Given the description of an element on the screen output the (x, y) to click on. 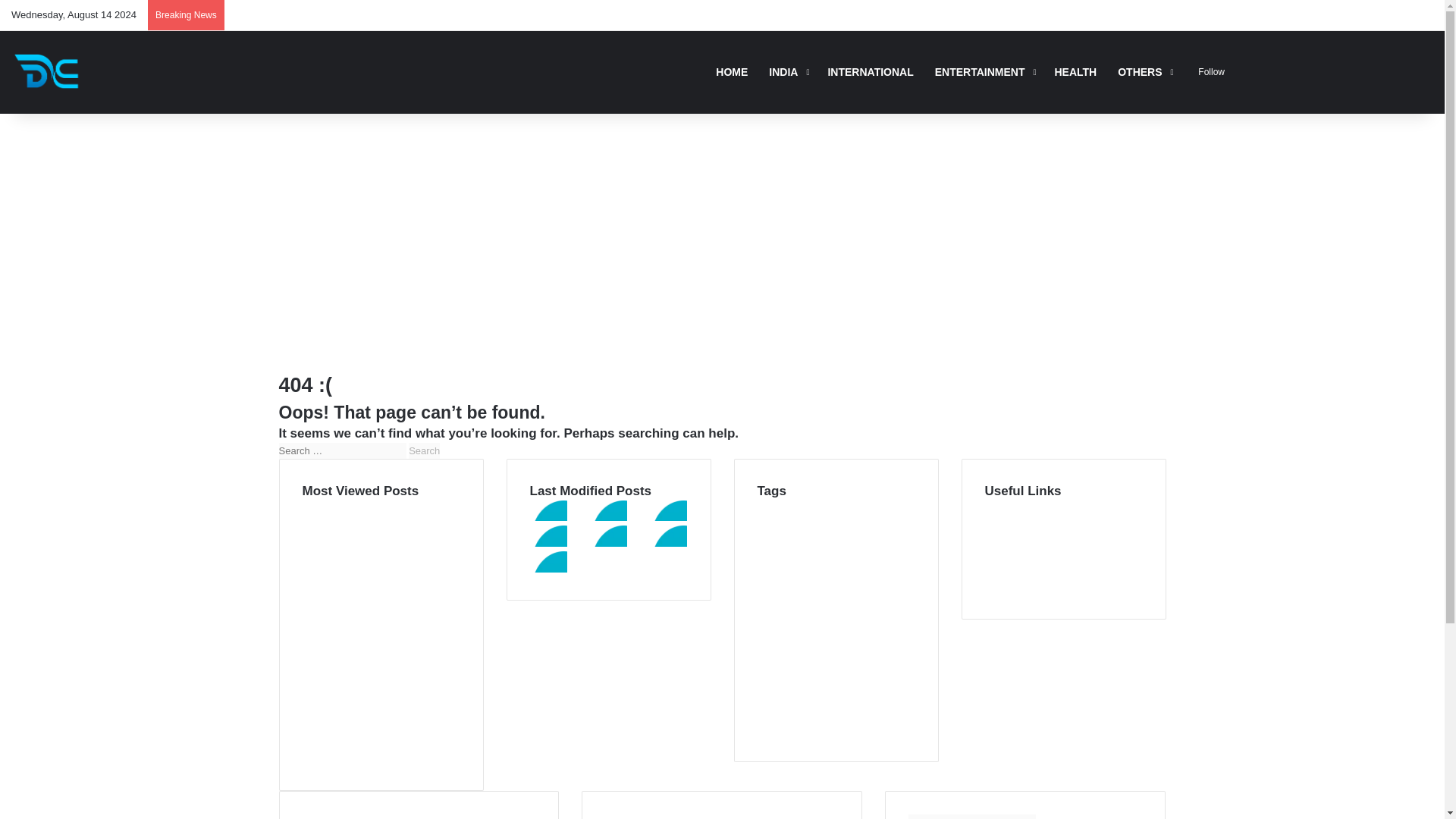
Deccan Era (49, 72)
Search (424, 450)
Search (424, 450)
ENTERTAINMENT (380, 724)
Search (983, 71)
INTERNATIONAL (424, 450)
Advertisement (380, 634)
